Given the description of an element on the screen output the (x, y) to click on. 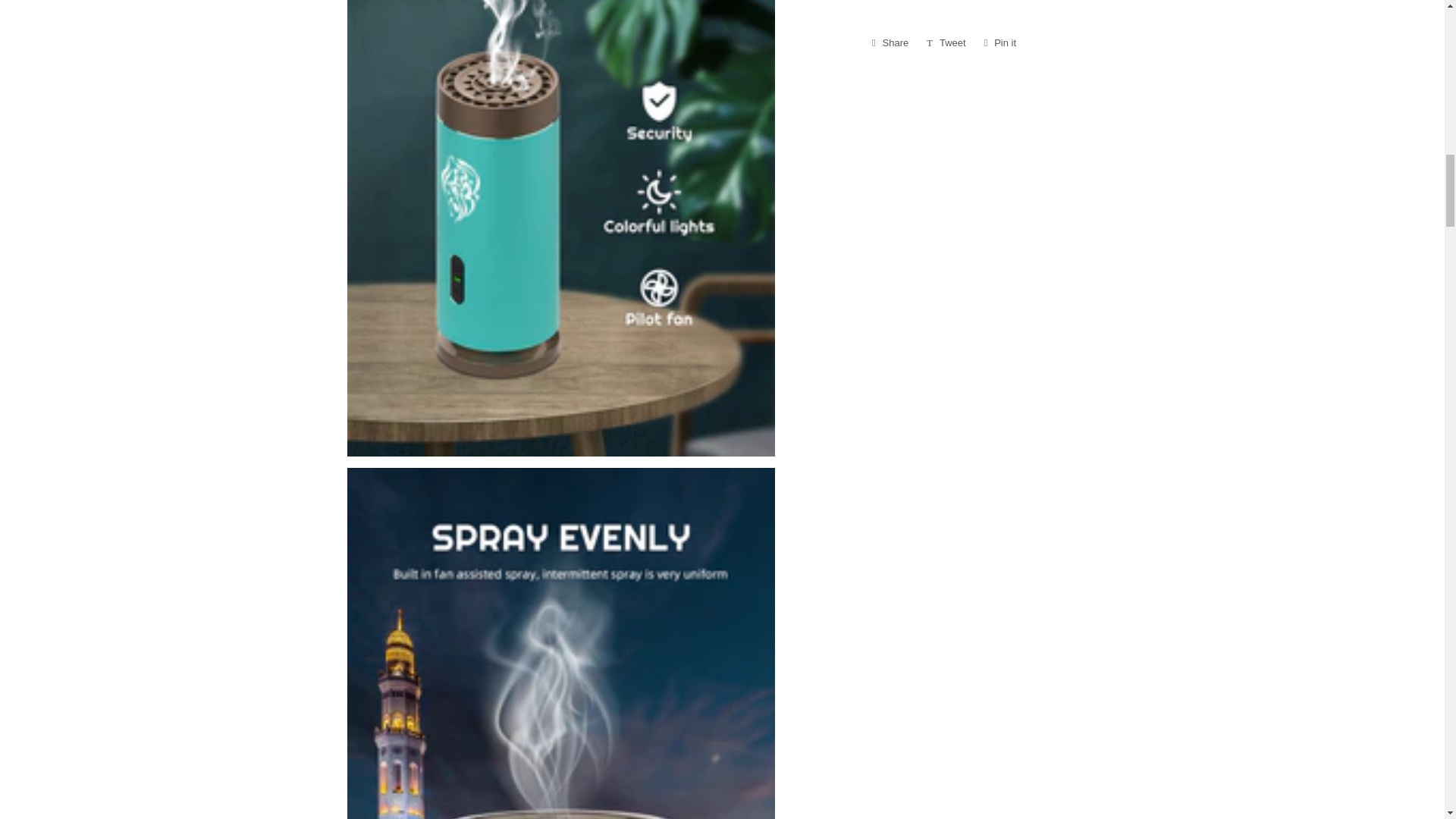
Share on Facebook (889, 42)
Pin on Pinterest (889, 42)
Tweet on Twitter (946, 42)
